Given the description of an element on the screen output the (x, y) to click on. 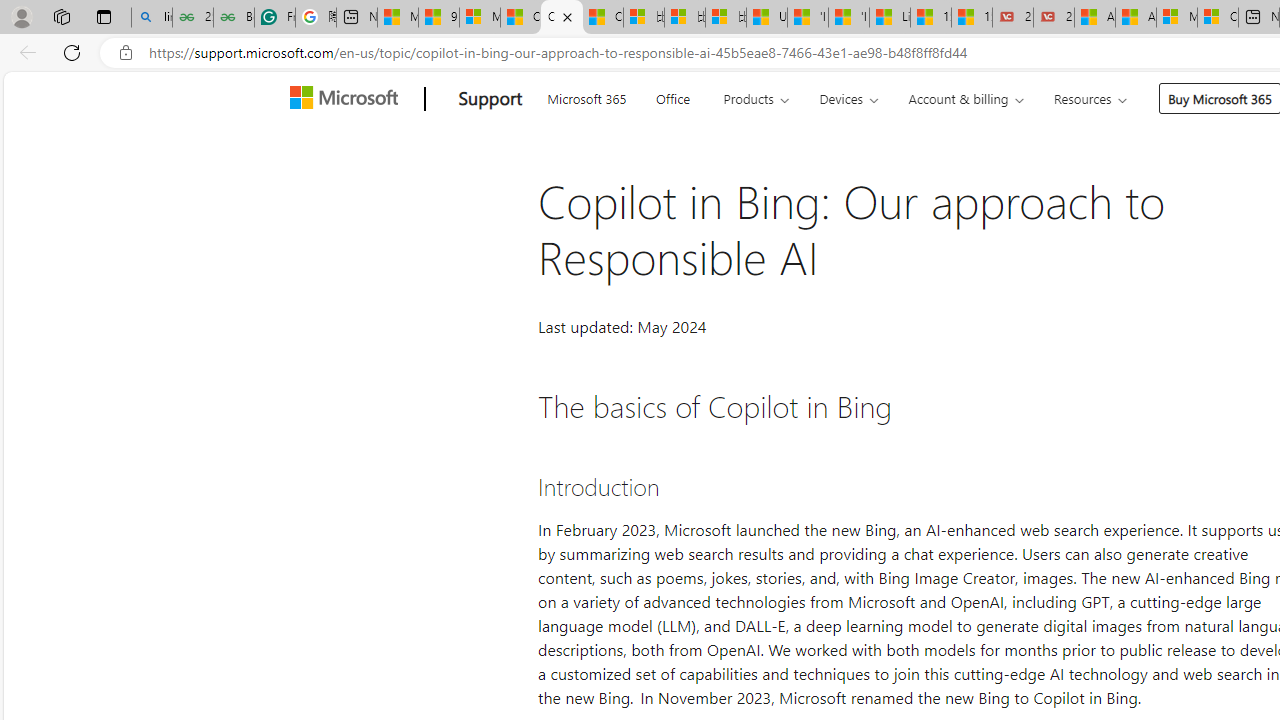
linux basic - Search (151, 17)
15 Ways Modern Life Contradicts the Teachings of Jesus (971, 17)
Best SSL Certificates Provider in India - GeeksforGeeks (233, 17)
